Given the description of an element on the screen output the (x, y) to click on. 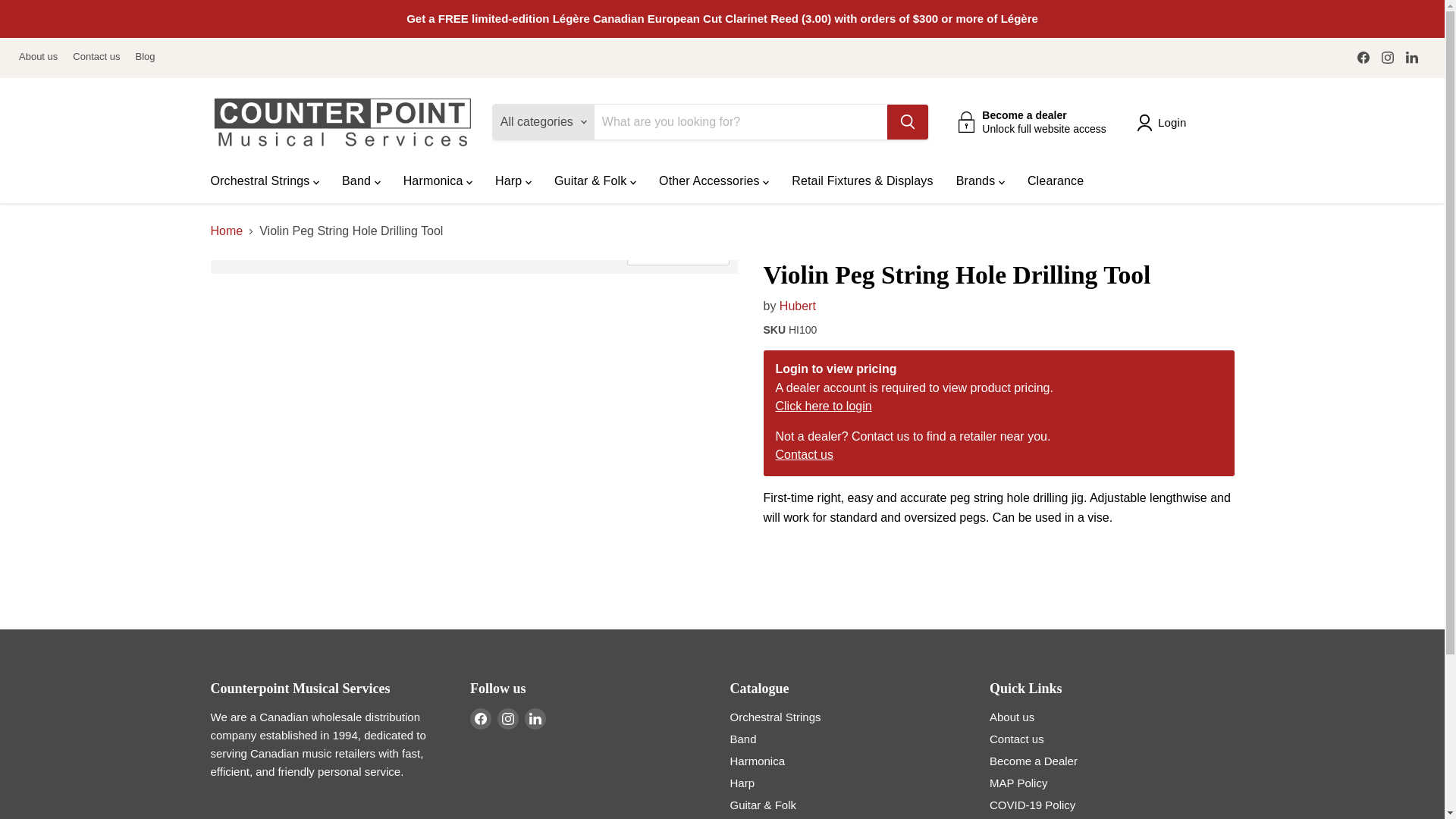
Instagram (1387, 56)
Find us on Instagram (1387, 56)
About us (38, 57)
Contact us (803, 454)
LinkedIn (1411, 56)
LinkedIn (535, 718)
Instagram (507, 718)
Counterpoint Music Login (822, 405)
Facebook (1363, 56)
Contact us (95, 57)
